Given the description of an element on the screen output the (x, y) to click on. 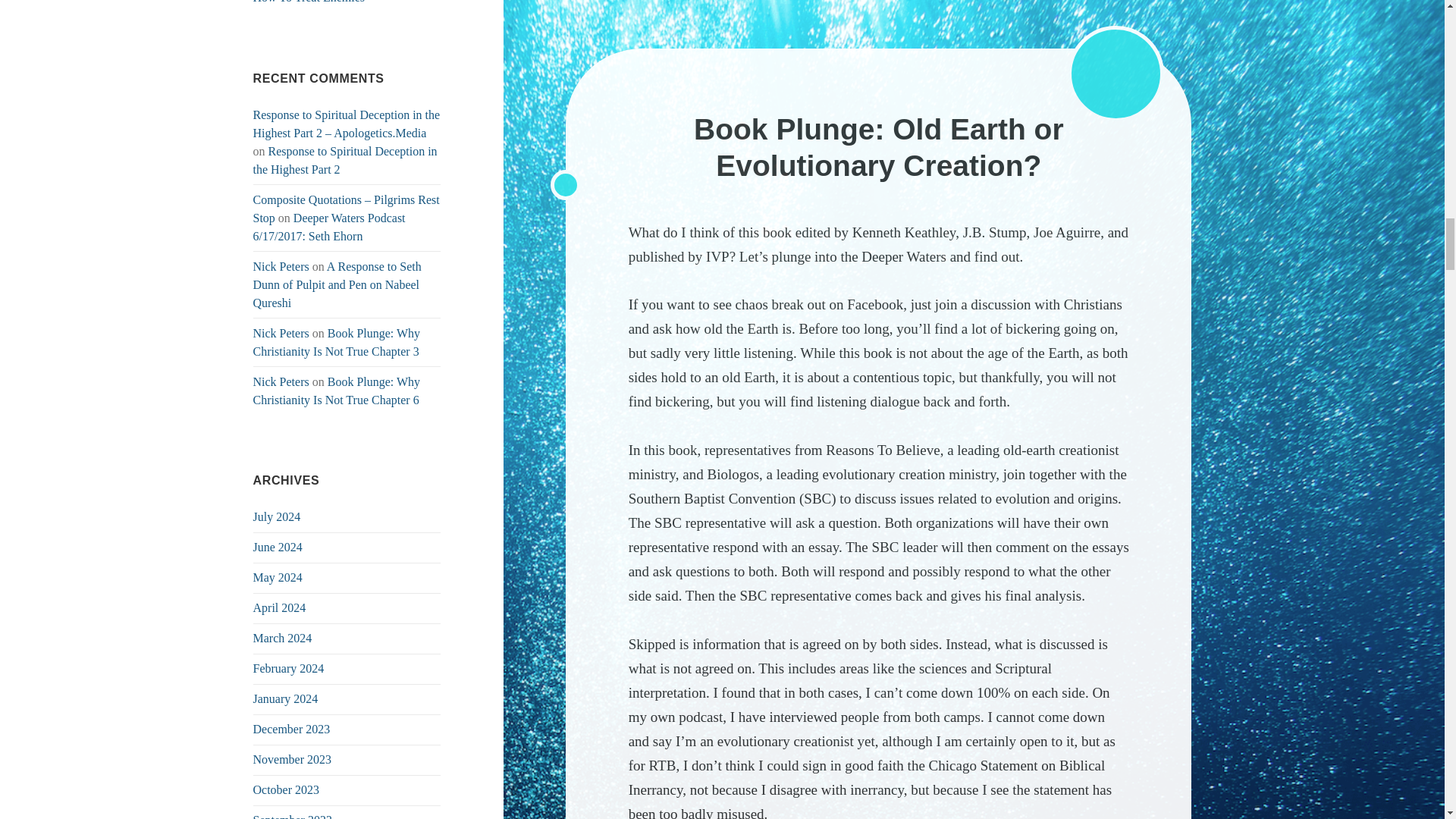
A Response to Seth Dunn of Pulpit and Pen on Nabeel Qureshi (337, 284)
Nick Peters (280, 266)
Response to Spiritual Deception in the Highest Part 2 (345, 160)
Book Plunge: Why Christianity Is Not True Chapter 3 (336, 341)
Nick Peters (280, 332)
How To Treat Enemies (309, 2)
